Given the description of an element on the screen output the (x, y) to click on. 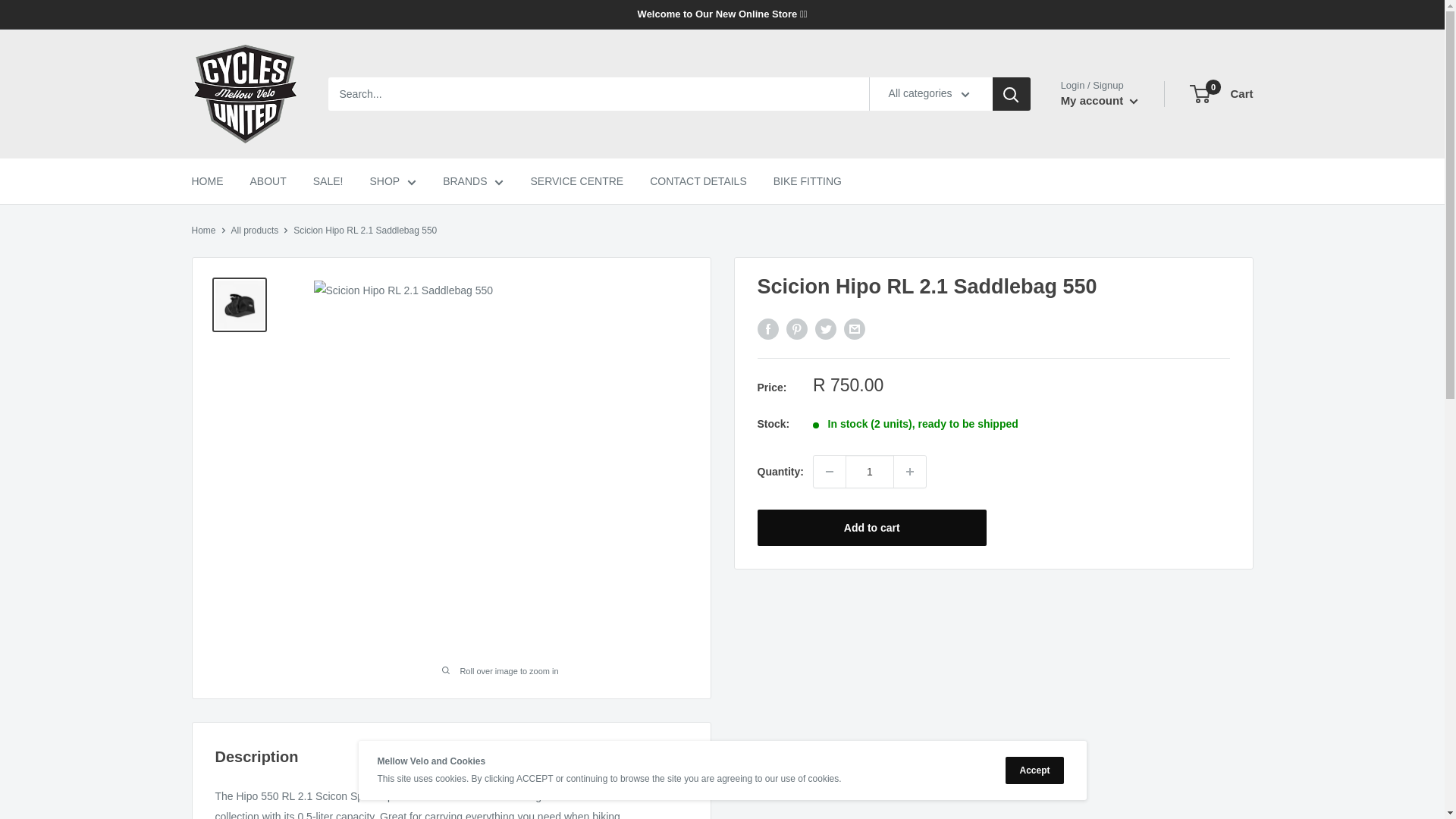
1 (869, 471)
Decrease quantity by 1 (829, 471)
Increase quantity by 1 (909, 471)
